Given the description of an element on the screen output the (x, y) to click on. 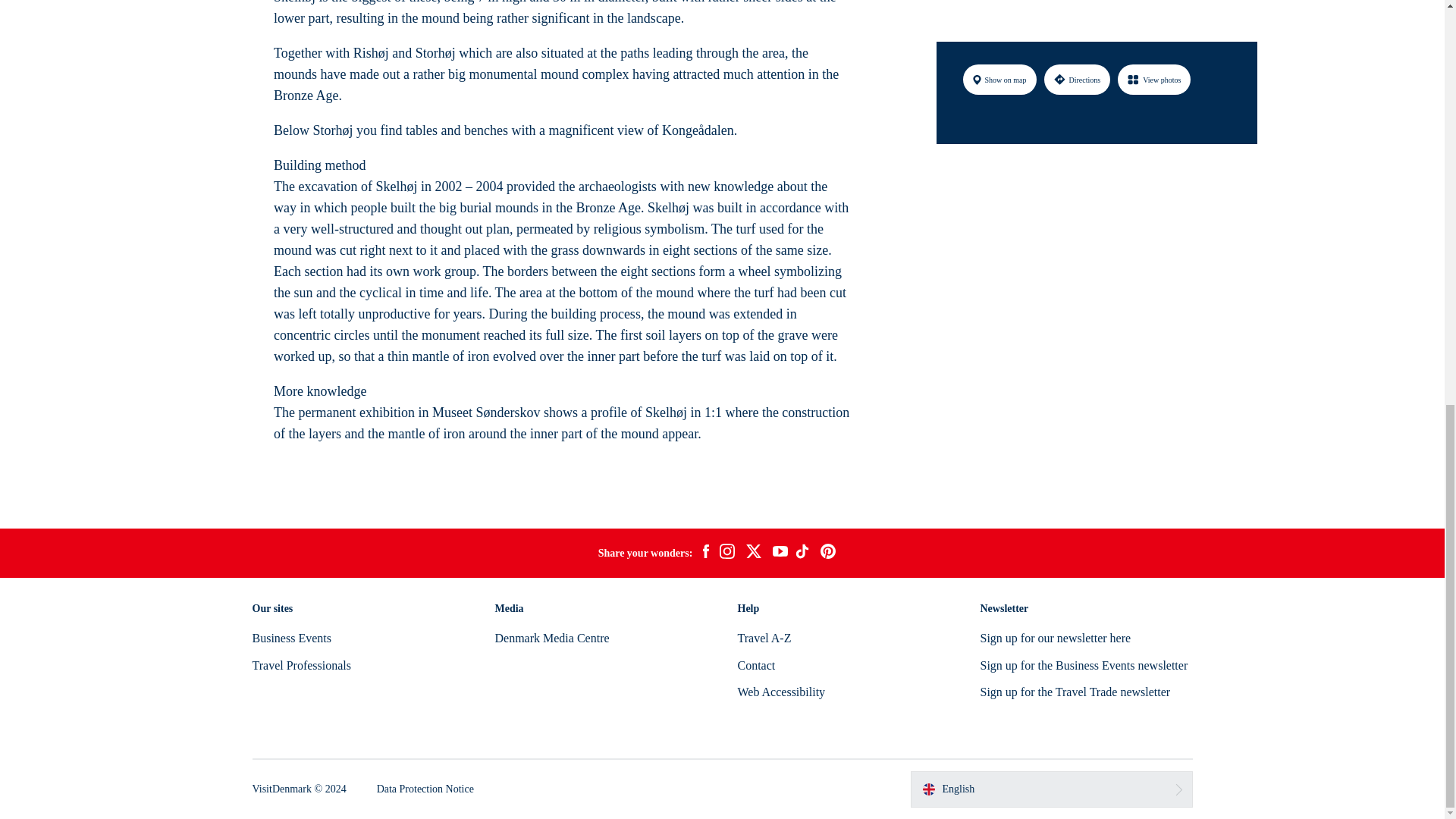
Contact (755, 665)
Web Accessibility (780, 691)
Sign up for the Business Events newsletter (1083, 665)
Denmark Media Centre (551, 637)
twitter (753, 553)
Sign up for the Business Events newsletter (1083, 665)
youtube (780, 553)
Business Events (290, 637)
Data Protection Notice (425, 789)
facebook (705, 553)
